Given the description of an element on the screen output the (x, y) to click on. 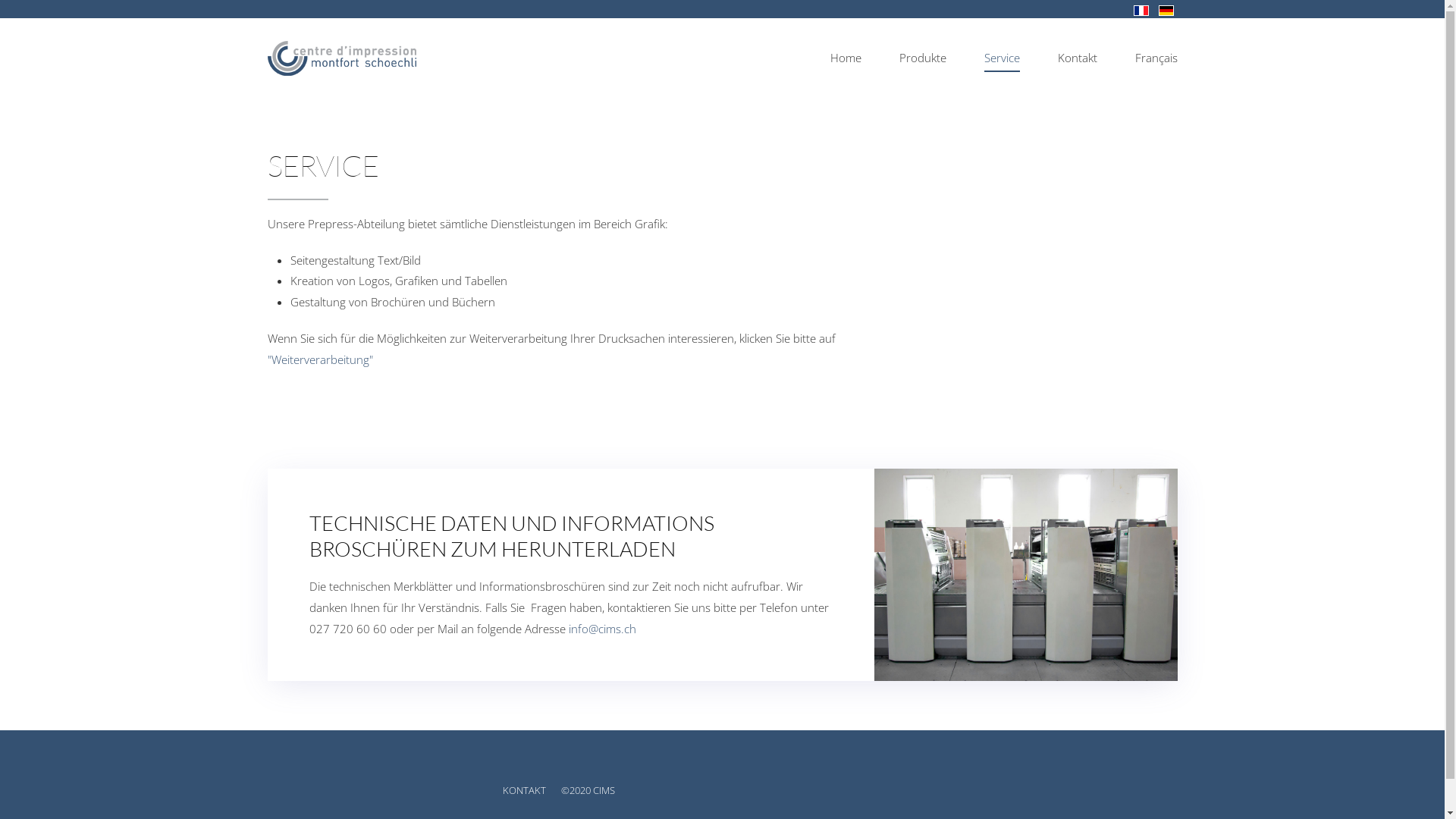
KONTAKT Element type: text (523, 790)
Home Element type: text (845, 58)
Kontakt Element type: text (1077, 58)
German Element type: hover (1165, 10)
"Weiterverarbeitung" Element type: text (319, 359)
info@cims.ch Element type: text (602, 628)
Produkte Element type: text (921, 58)
Service Element type: text (1001, 58)
